Given the description of an element on the screen output the (x, y) to click on. 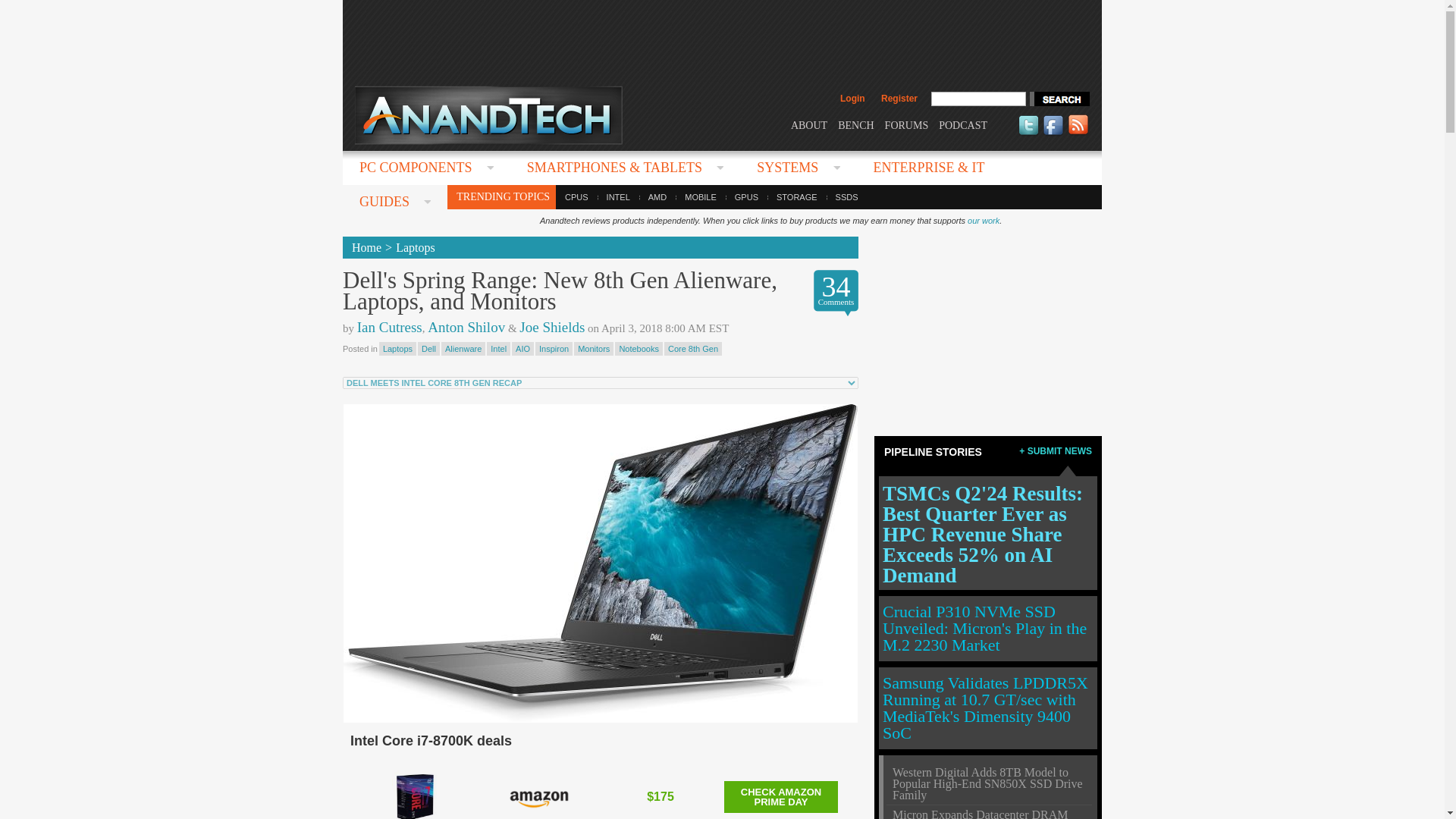
ABOUT (808, 125)
Intel Core i7-8700K Desktop... (414, 794)
search (1059, 98)
search (1059, 98)
Register (898, 98)
Amazon (538, 797)
search (1059, 98)
PODCAST (963, 125)
FORUMS (906, 125)
Login (852, 98)
BENCH (855, 125)
